Given the description of an element on the screen output the (x, y) to click on. 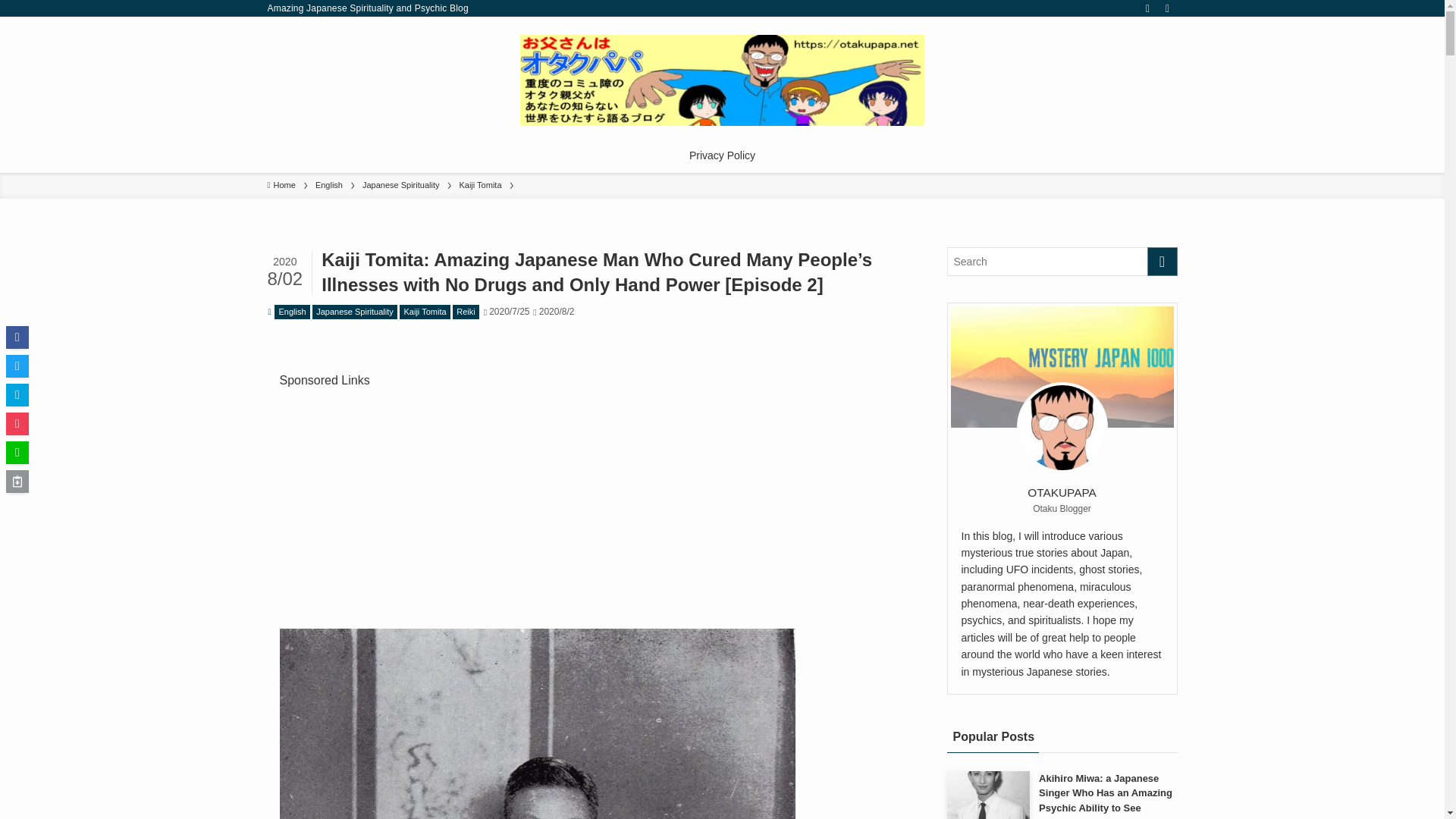
Reiki (465, 311)
Kaiji Tomita (423, 311)
Home (280, 185)
English (292, 311)
Advertisement (587, 498)
Japanese Spirituality (400, 185)
Privacy Policy (722, 155)
Share on Twitter (17, 365)
Kaiji Tomita (479, 185)
English (328, 185)
Share on Facebook (17, 336)
Japanese Spirituality (355, 311)
